Given the description of an element on the screen output the (x, y) to click on. 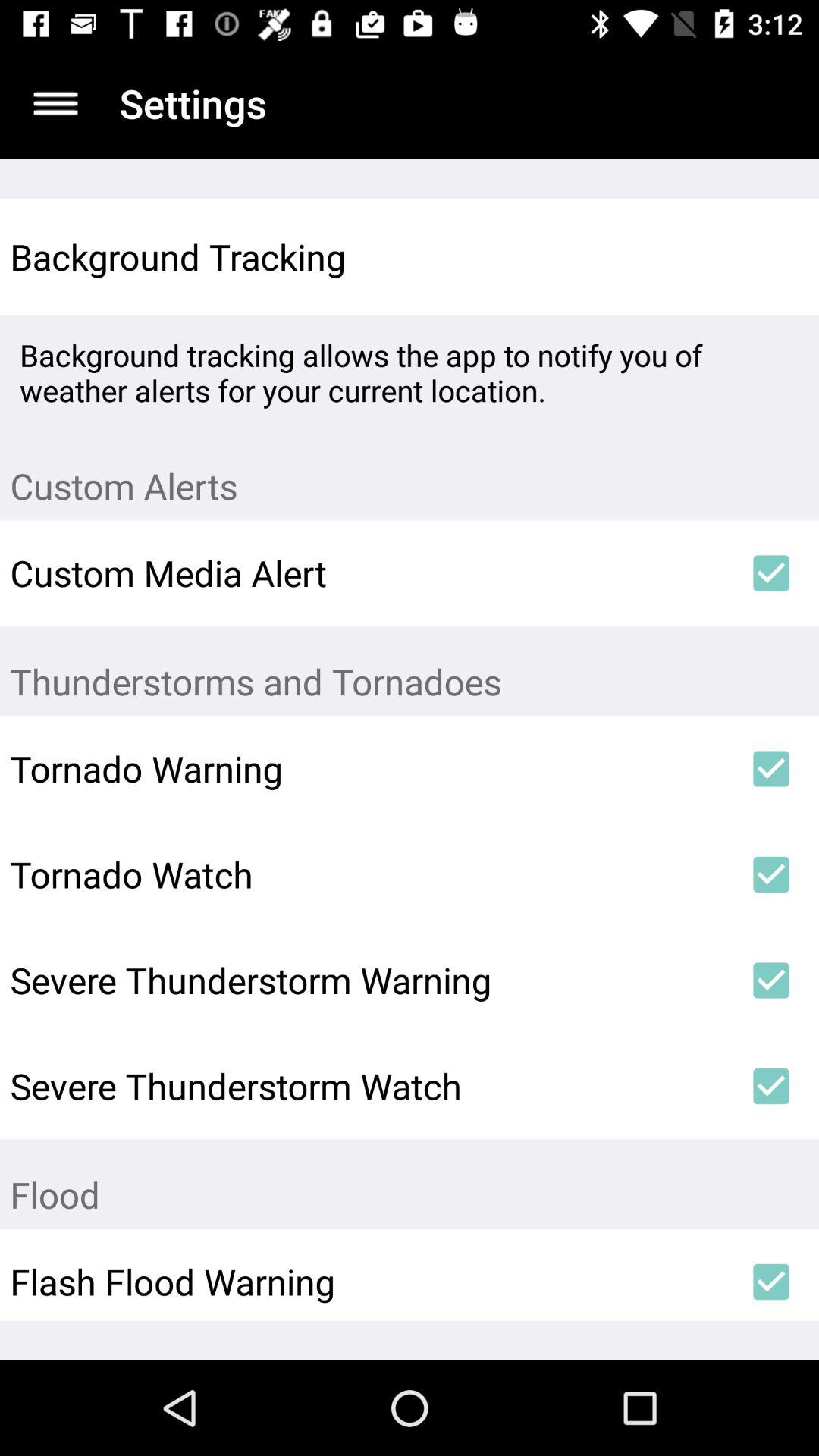
choose the app to the left of the settings item (55, 103)
